Given the description of an element on the screen output the (x, y) to click on. 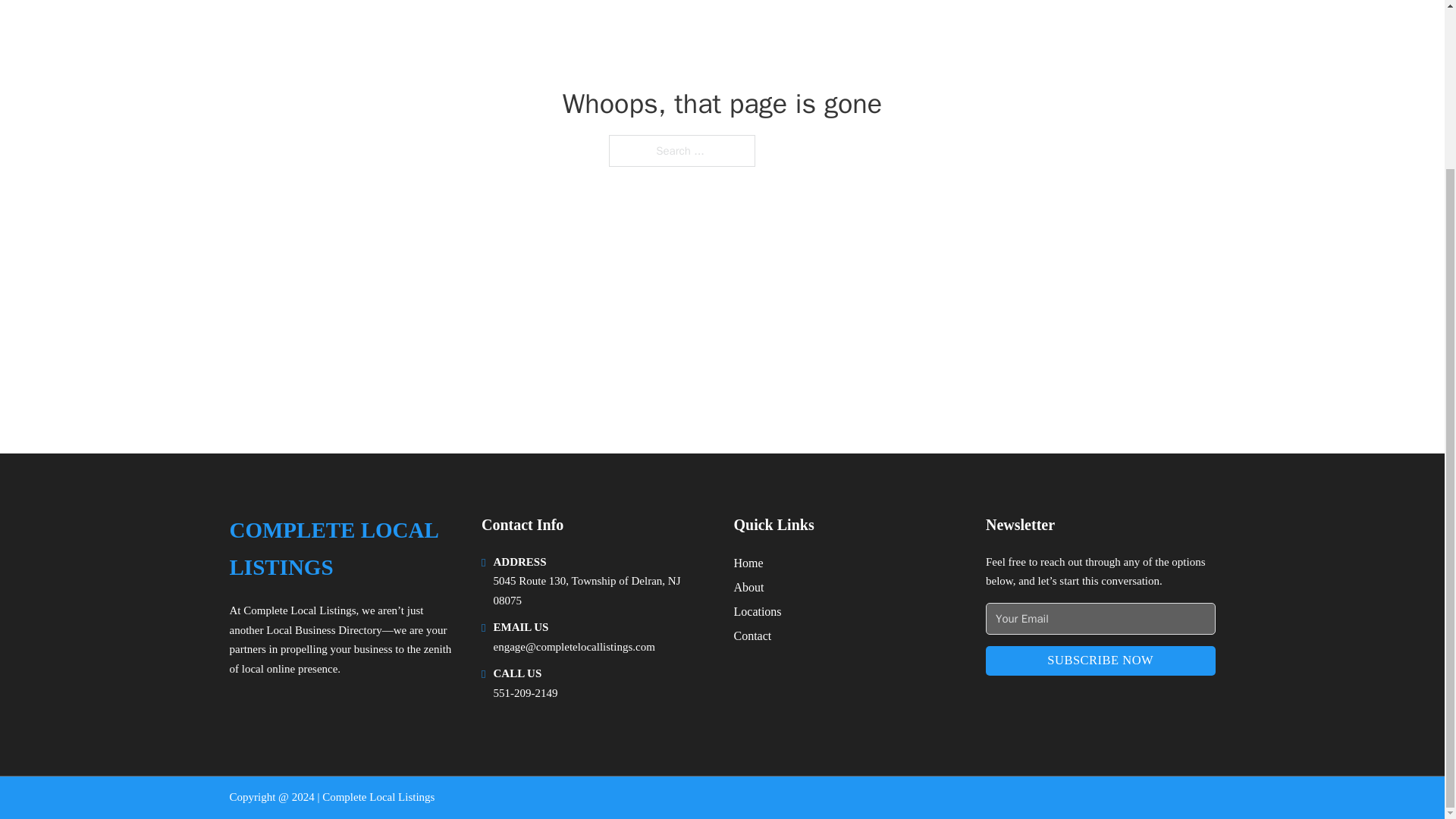
Complete Local Listings (299, 610)
Home (747, 562)
551-209-2149 (525, 693)
SUBSCRIBE NOW (1100, 660)
About (748, 587)
COMPLETE LOCAL LISTINGS (343, 549)
Locations (757, 611)
Contact (752, 635)
